Given the description of an element on the screen output the (x, y) to click on. 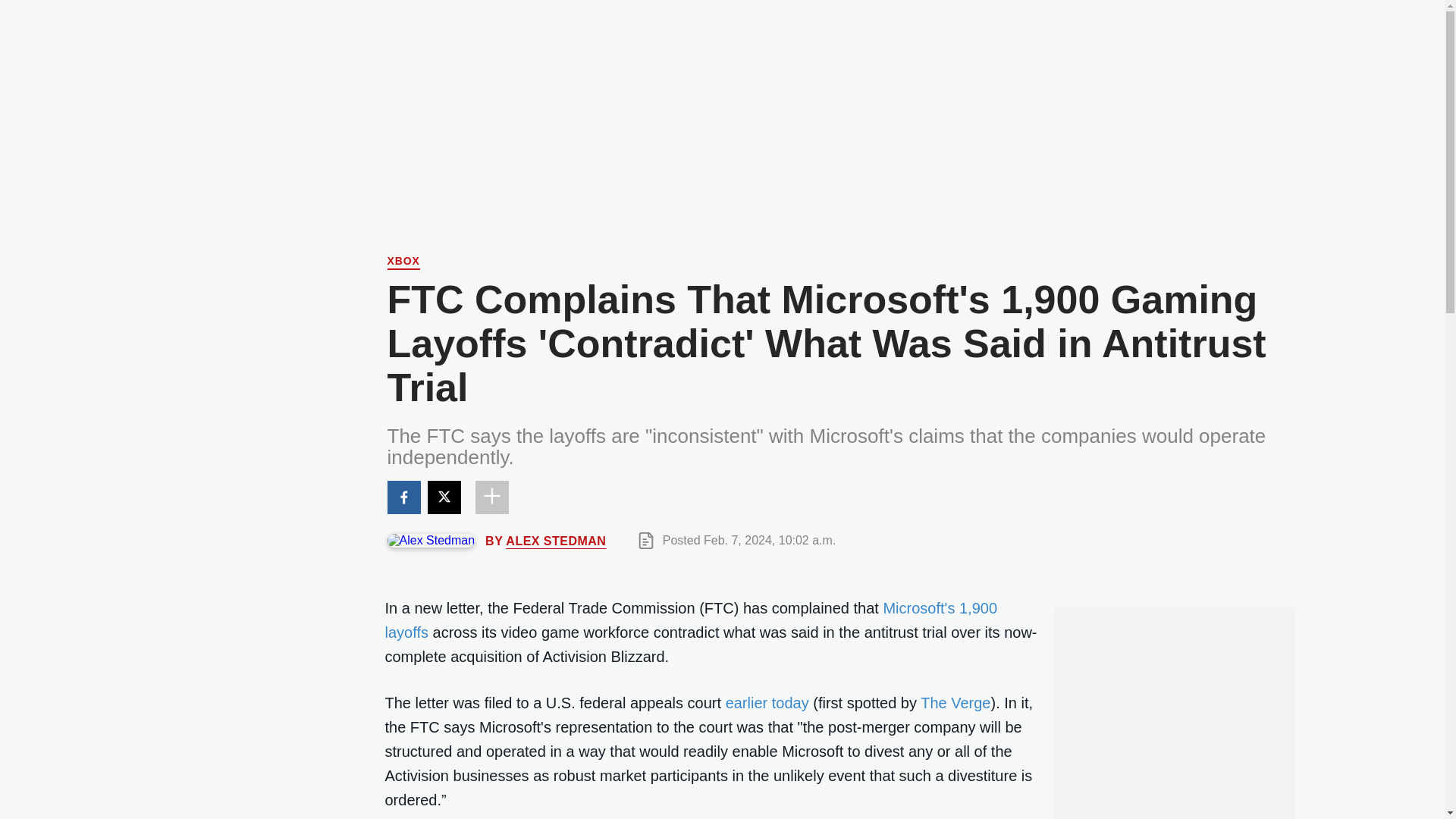
XBOX (403, 262)
ALEX STEDMAN (555, 540)
The Verge (955, 702)
Microsoft's 1,900 layoffs (691, 619)
earlier today (767, 702)
Xbox (403, 262)
